Given the description of an element on the screen output the (x, y) to click on. 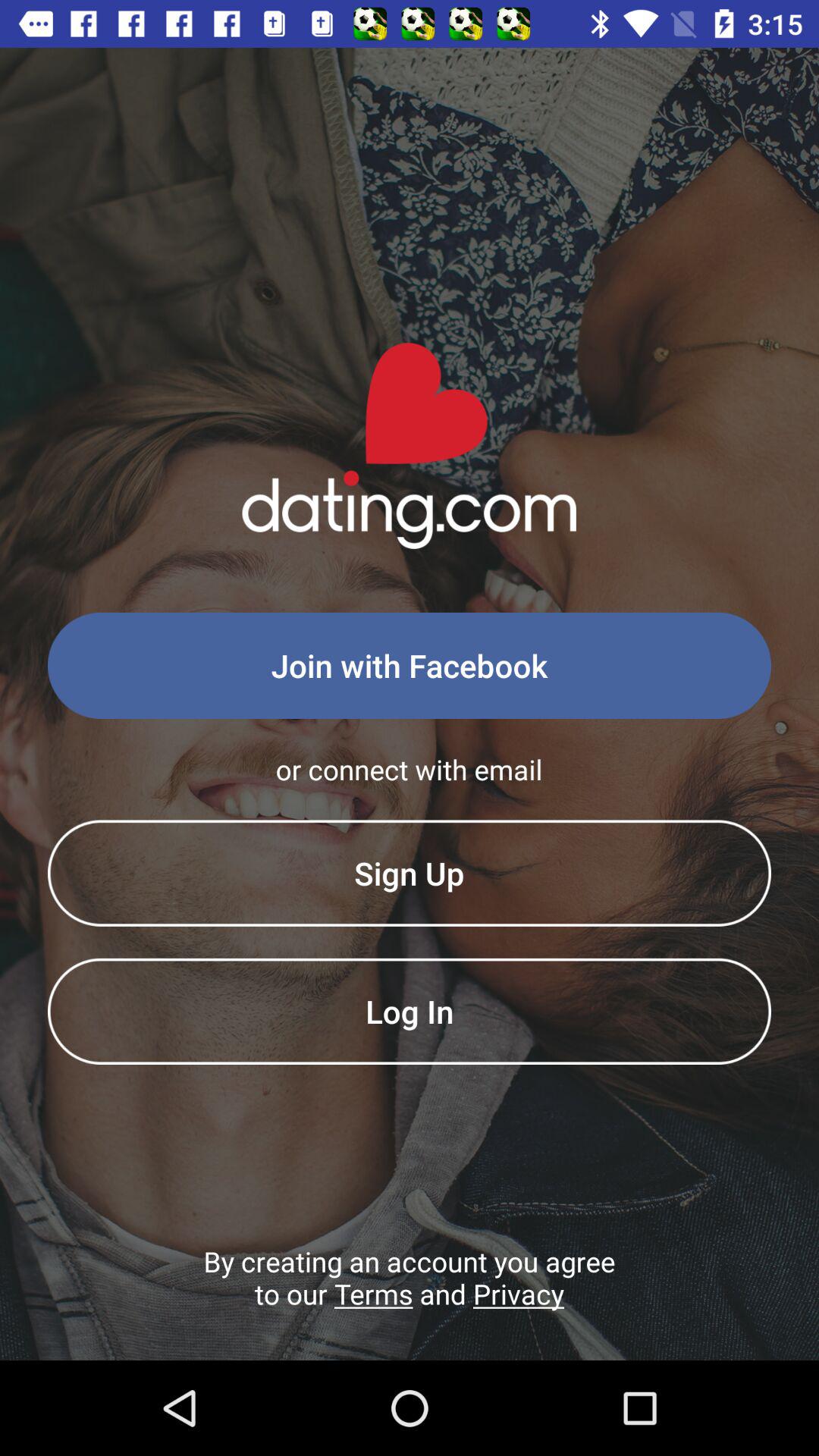
tap the item above the by creating an icon (409, 1011)
